Given the description of an element on the screen output the (x, y) to click on. 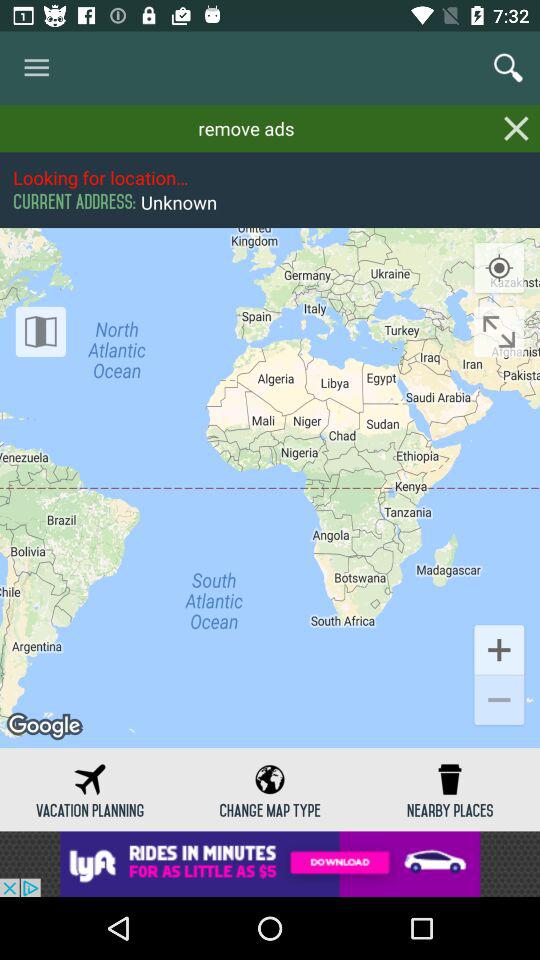
search option (508, 67)
